Given the description of an element on the screen output the (x, y) to click on. 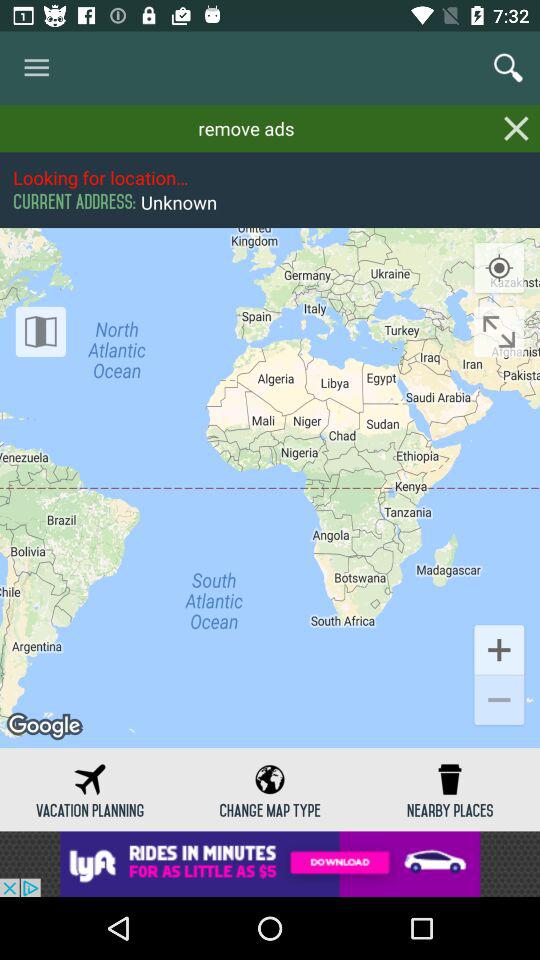
search option (508, 67)
